Given the description of an element on the screen output the (x, y) to click on. 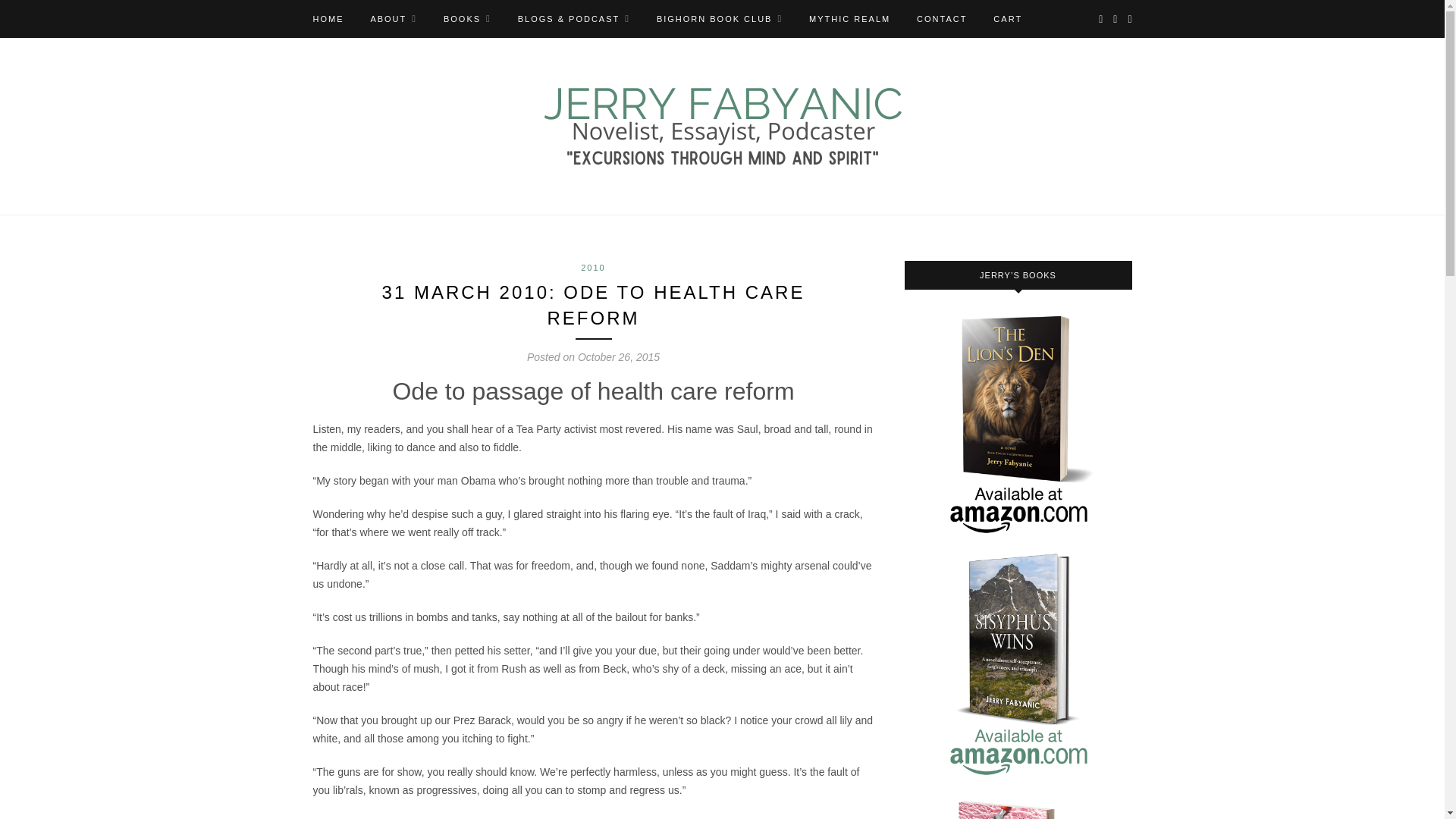
CONTACT (941, 18)
MYTHIC REALM (849, 18)
ABOUT (392, 18)
HOME (328, 18)
CART (1007, 18)
BIGHORN BOOK CLUB (719, 18)
BOOKS (468, 18)
